Given the description of an element on the screen output the (x, y) to click on. 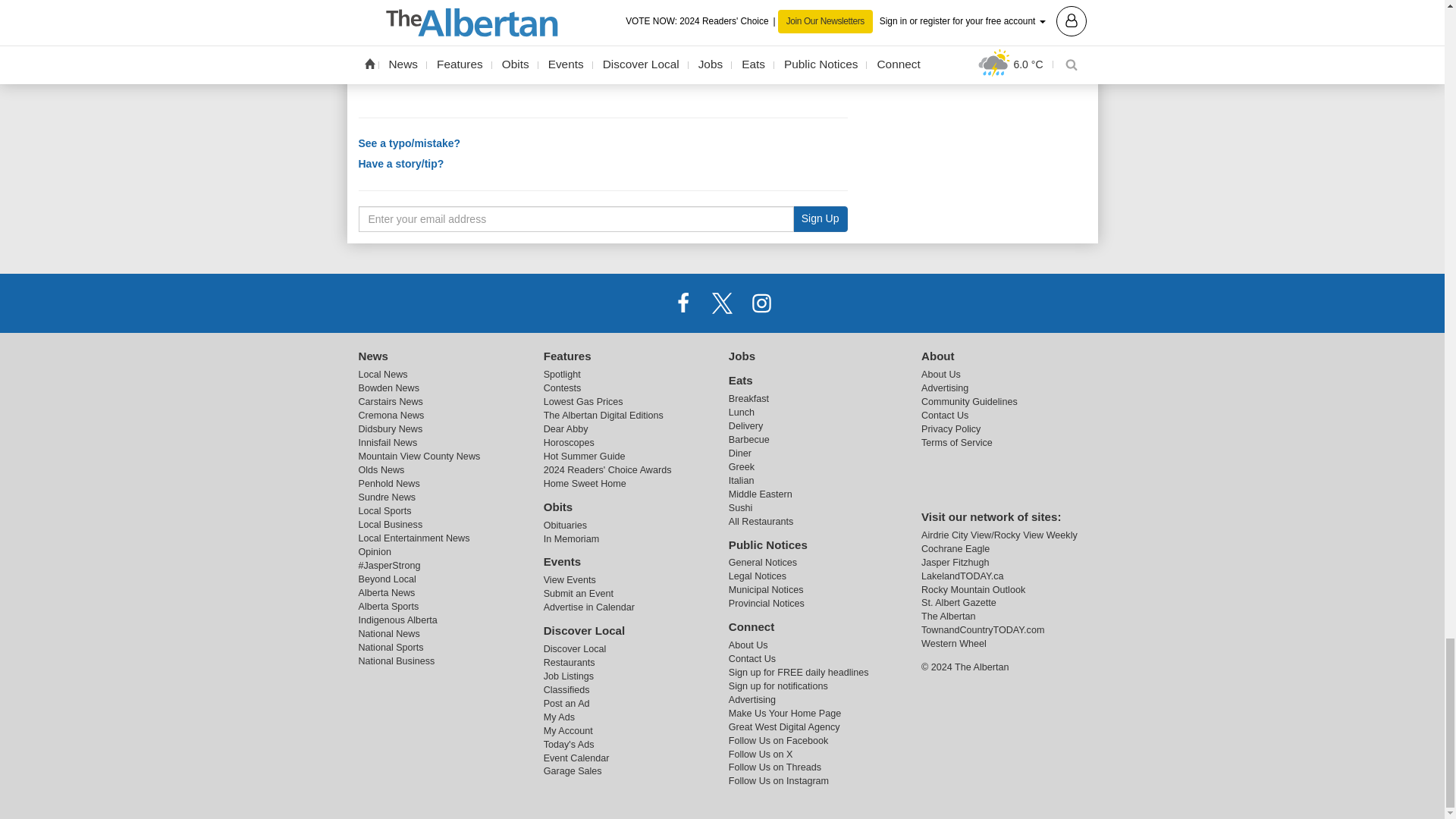
Instagram (760, 303)
Facebook (683, 303)
X (721, 303)
